Given the description of an element on the screen output the (x, y) to click on. 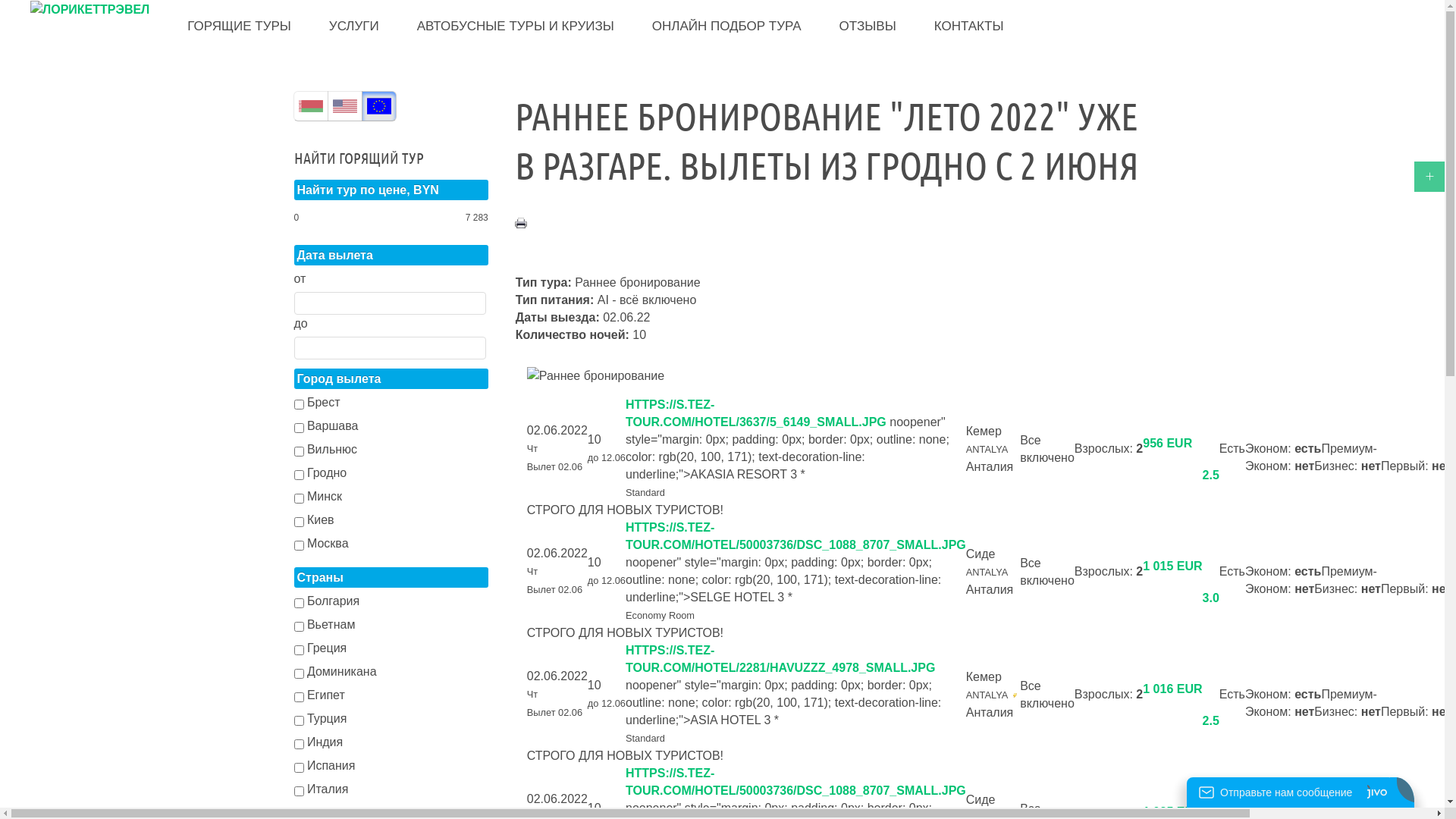
1 015 EUR Element type: text (1171, 565)
Print Element type: hover (520, 222)
1 016 EUR Element type: text (1171, 688)
3.0 Element type: text (1210, 597)
2.5 Element type: text (1210, 720)
956 EUR Element type: text (1167, 442)
2.5 Element type: text (1210, 474)
HTTPS://S.TEZ-TOUR.COM/HOTEL/2281/HAVUZZZ_4978_SMALL.JPG Element type: text (780, 658)
1 025 EUR Element type: text (1171, 811)
HTTPS://S.TEZ-TOUR.COM/HOTEL/3637/5_6149_SMALL.JPG Element type: text (755, 413)
